Given the description of an element on the screen output the (x, y) to click on. 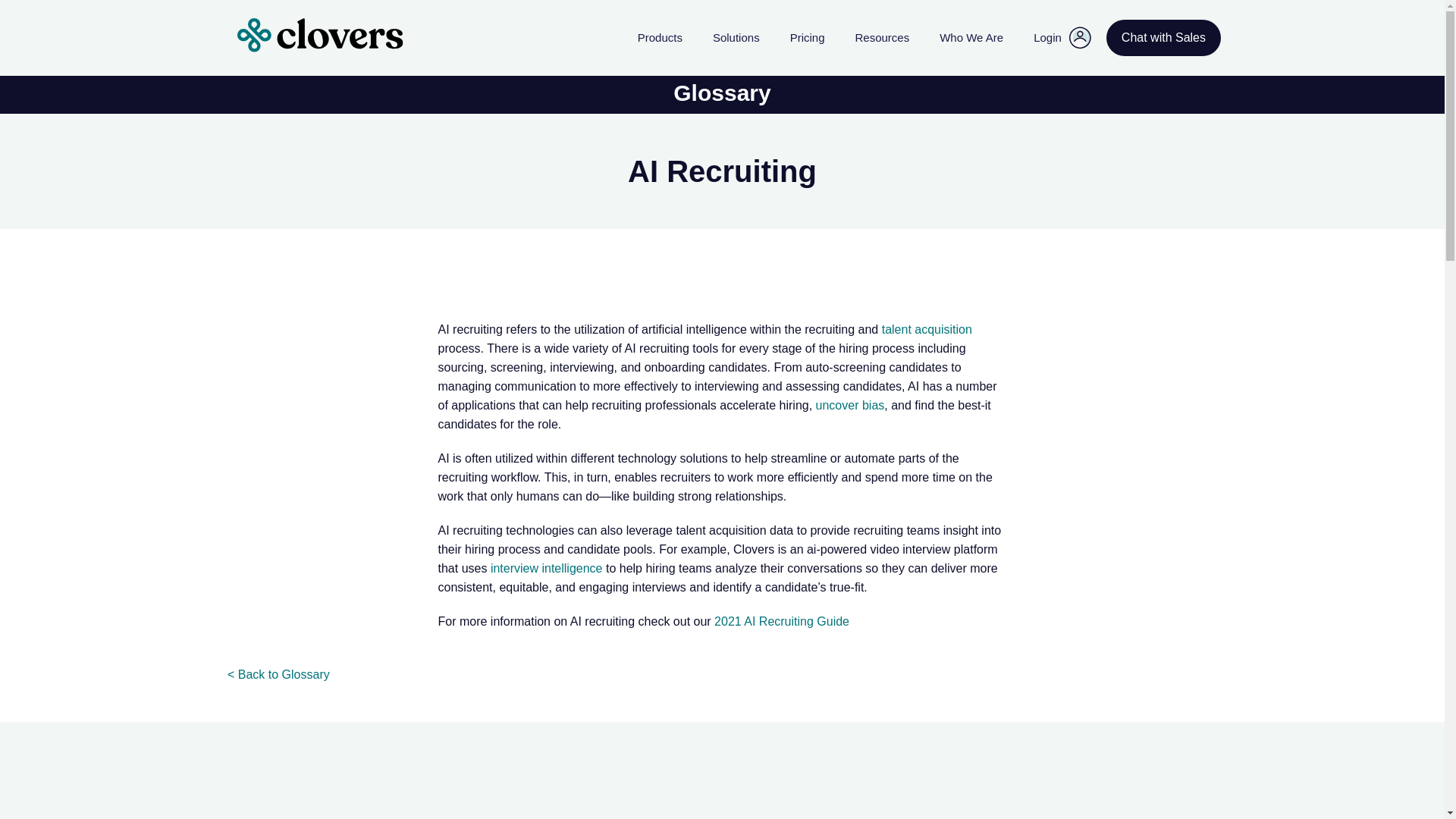
interview intelligence (546, 567)
Who We Are (971, 37)
Solutions (736, 37)
Pricing (807, 42)
Products (659, 37)
2021 AI Recruiting Guide (781, 621)
Chat with Sales (1163, 37)
Resources (883, 37)
uncover bias (850, 404)
talent acquisition (927, 328)
